Given the description of an element on the screen output the (x, y) to click on. 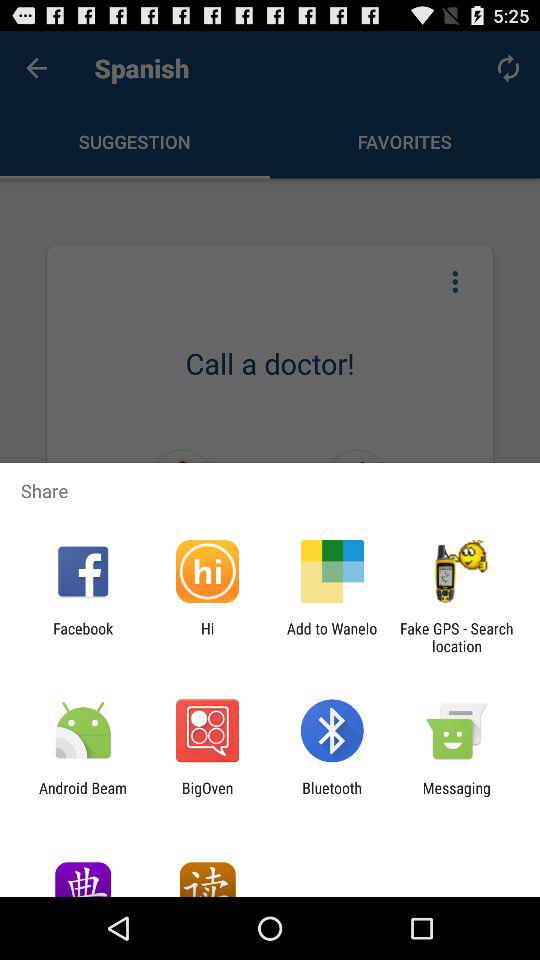
turn off the fake gps search icon (456, 637)
